Given the description of an element on the screen output the (x, y) to click on. 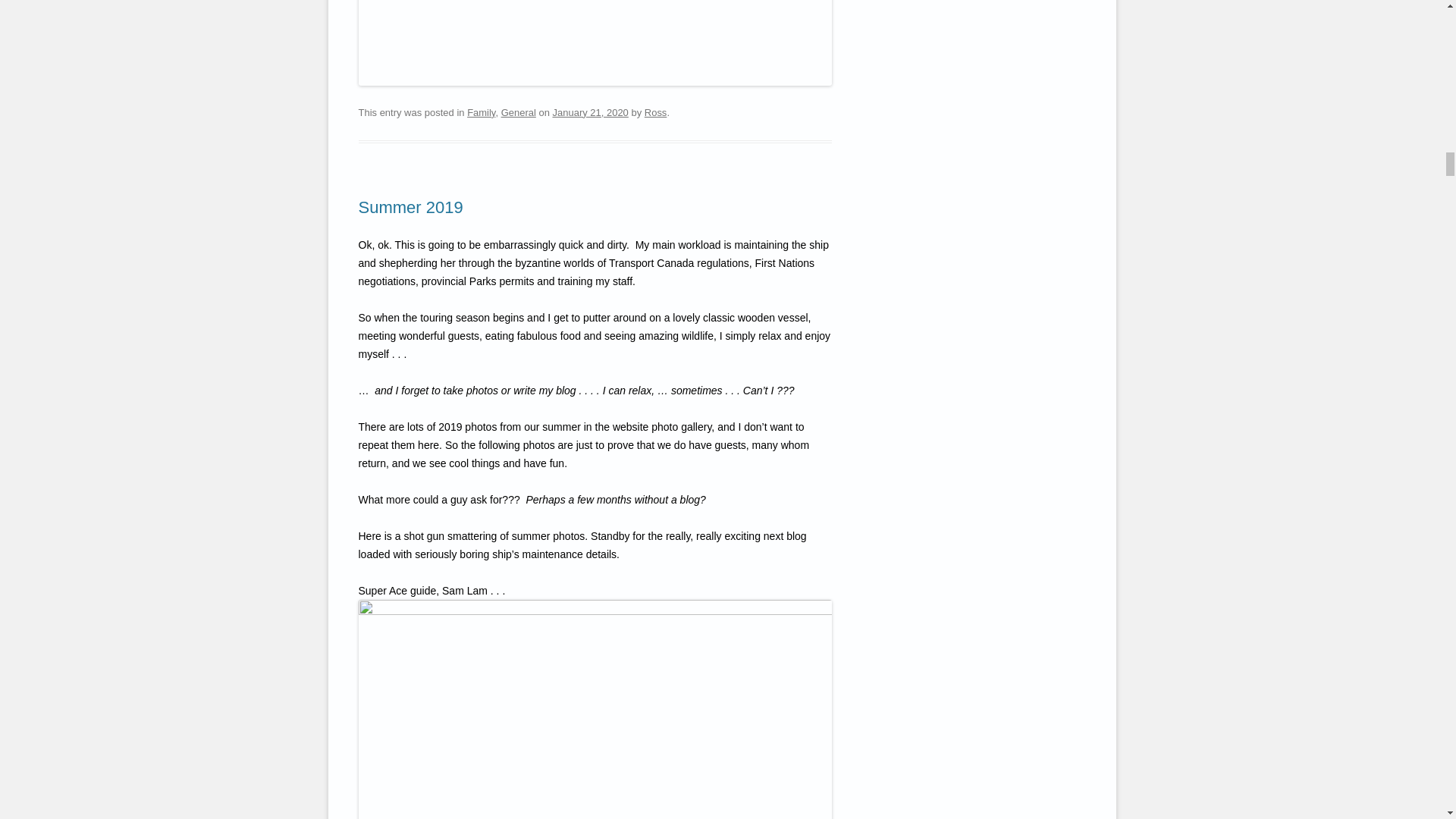
9:47 pm (589, 112)
Summer 2019 (410, 207)
Family (481, 112)
View all posts by Ross (655, 112)
General (517, 112)
Ross (655, 112)
January 21, 2020 (589, 112)
